Given the description of an element on the screen output the (x, y) to click on. 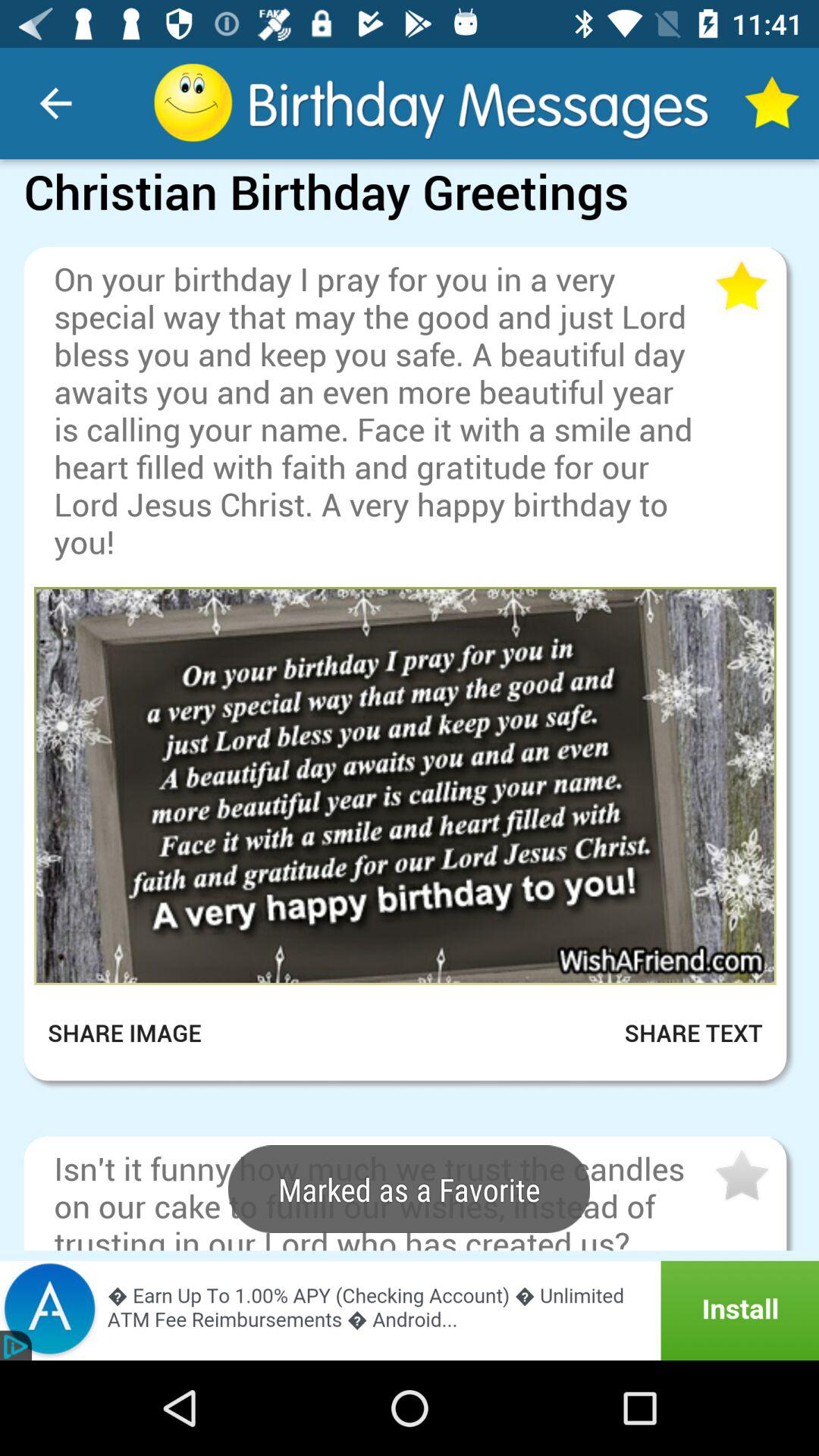
press on your birthday item (382, 410)
